Given the description of an element on the screen output the (x, y) to click on. 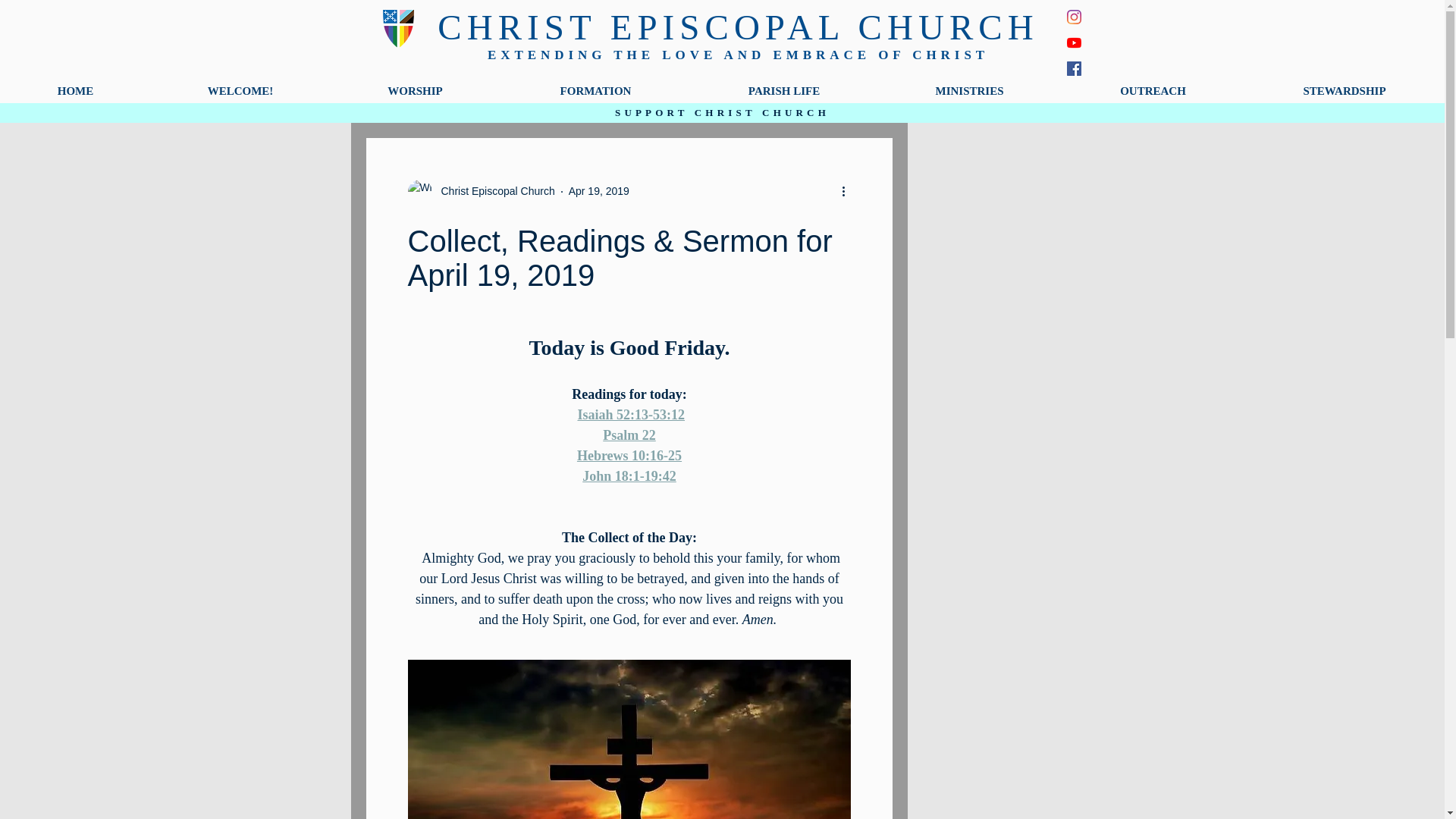
FORMATION (595, 90)
HOME (75, 90)
Christ Episcopal Church (493, 191)
CHRIST EPISCOPAL CHURCH (738, 26)
WELCOME! (240, 90)
Apr 19, 2019 (598, 191)
MINISTRIES (969, 90)
PARISH LIFE (783, 90)
WORSHIP (415, 90)
OUTREACH (1152, 90)
